Given the description of an element on the screen output the (x, y) to click on. 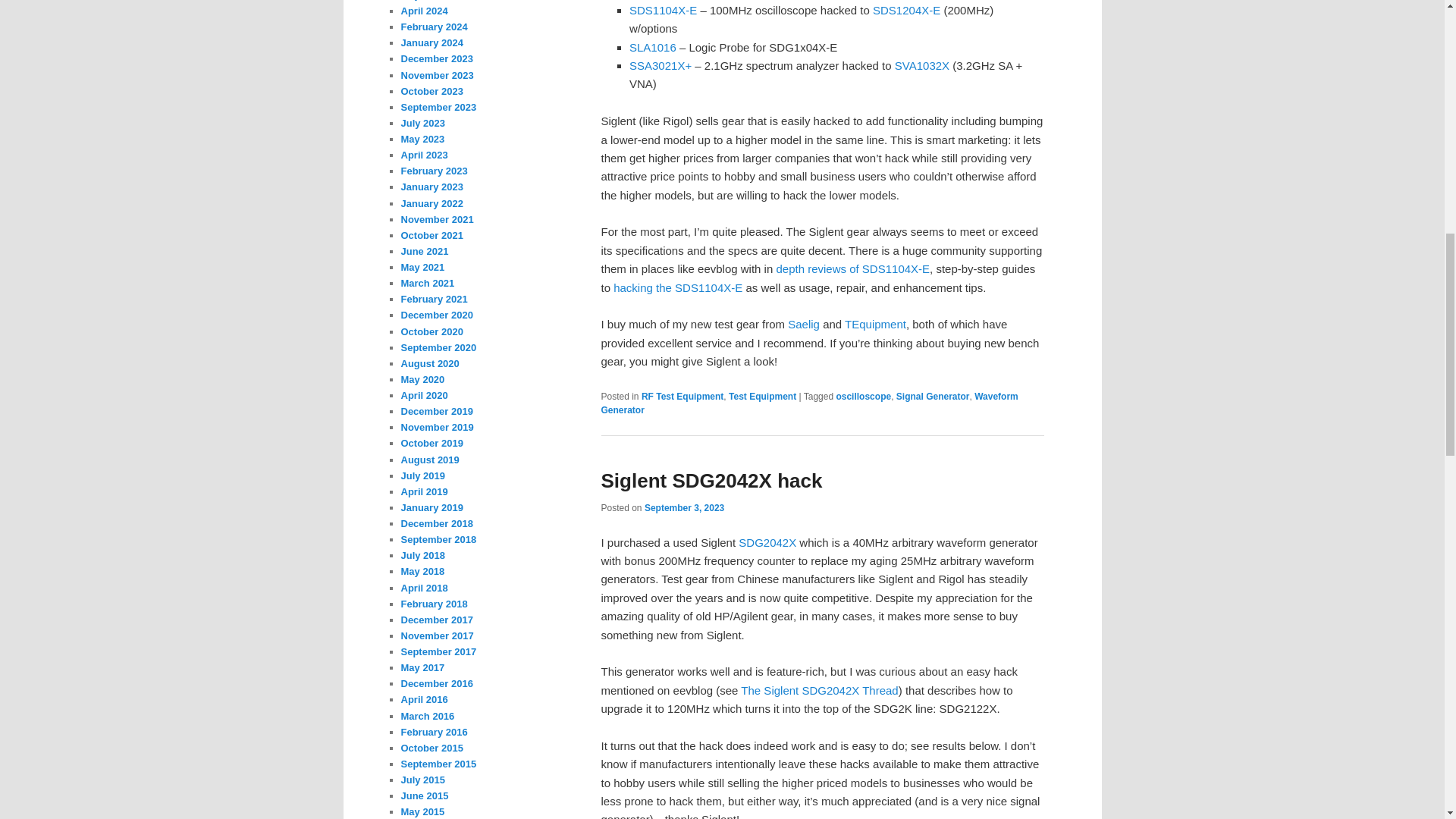
SDS1104X-E (662, 10)
TEquipment (874, 323)
5:38 pm (684, 507)
SDS1204X-E (906, 10)
September 3, 2023 (684, 507)
The Siglent SDG2042X Thread (819, 689)
Signal Generator (932, 396)
Waveform Generator (808, 403)
SLA1016 (652, 47)
Saelig (803, 323)
RF Test Equipment (682, 396)
Siglent SDG2042X hack (710, 480)
SVA1032X (922, 65)
Test Equipment (762, 396)
depth reviews of SDS1104X-E (853, 268)
